Given the description of an element on the screen output the (x, y) to click on. 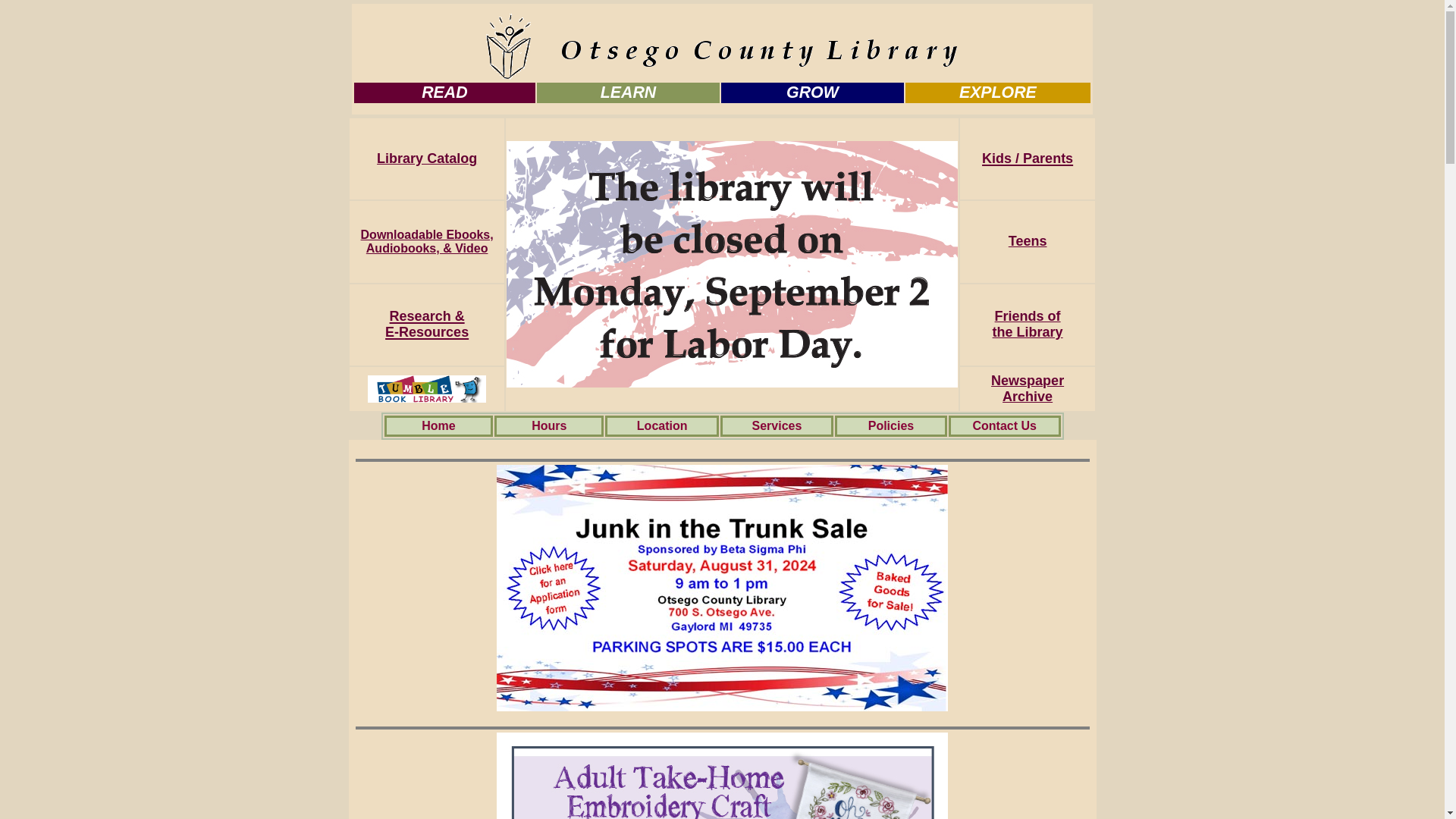
Contact Us (1003, 425)
Location (662, 425)
Policies (890, 425)
Friends of (1027, 316)
Services (777, 425)
E-Resources (426, 331)
Hours (548, 425)
Home (438, 425)
Teens (1027, 241)
Library Catalog (427, 158)
